Given the description of an element on the screen output the (x, y) to click on. 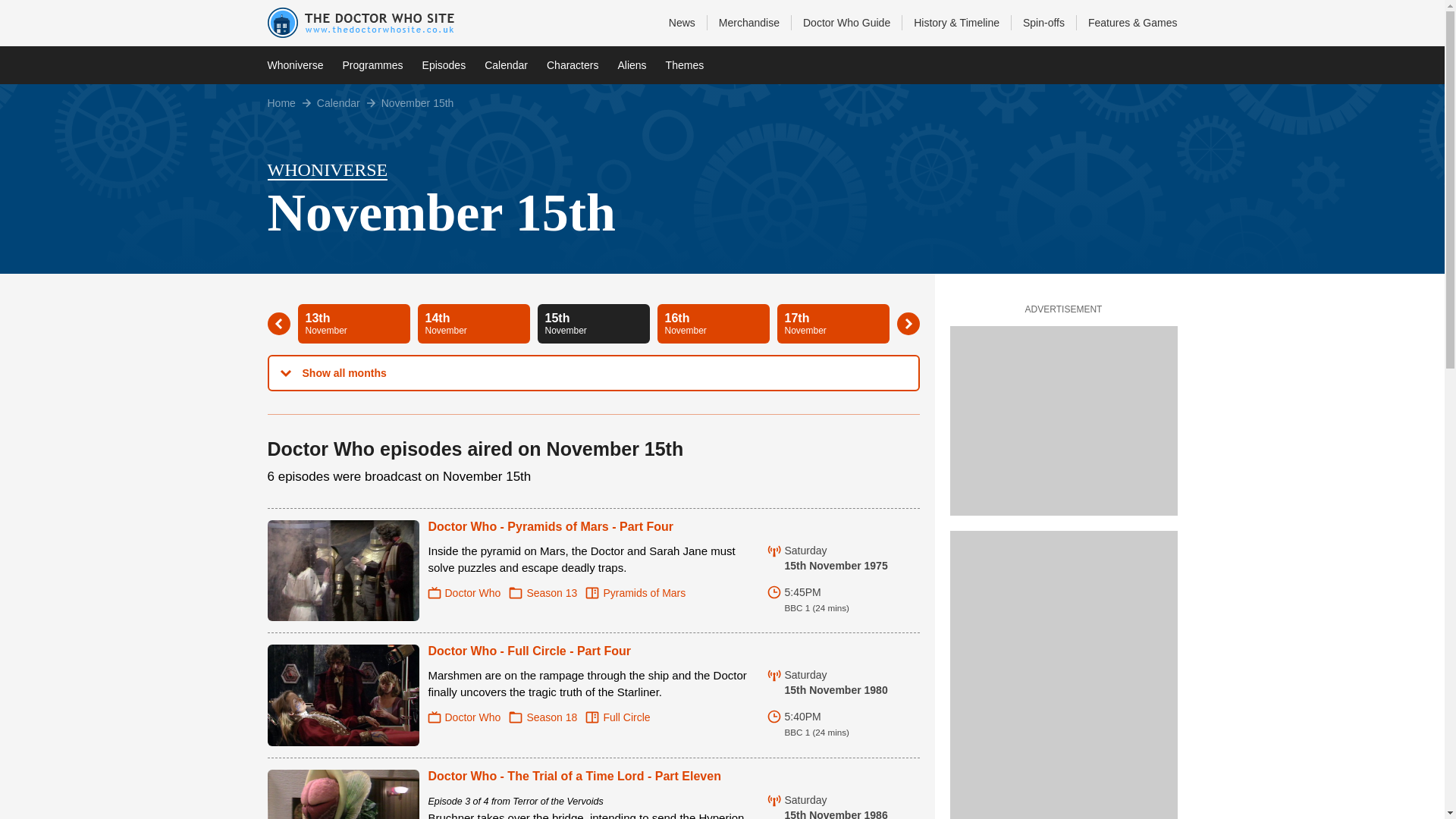
Merchandise (748, 22)
Calendar (505, 64)
Season 13 (542, 592)
Themes (684, 64)
Spin-offs (1042, 22)
Doctor Who - Full Circle - Part Four (472, 323)
Characters (529, 650)
Doctor Who (593, 323)
Programmes (572, 64)
Whoniverse (464, 592)
Calendar (372, 64)
Home (294, 64)
Pyramids of Mars (338, 102)
